Given the description of an element on the screen output the (x, y) to click on. 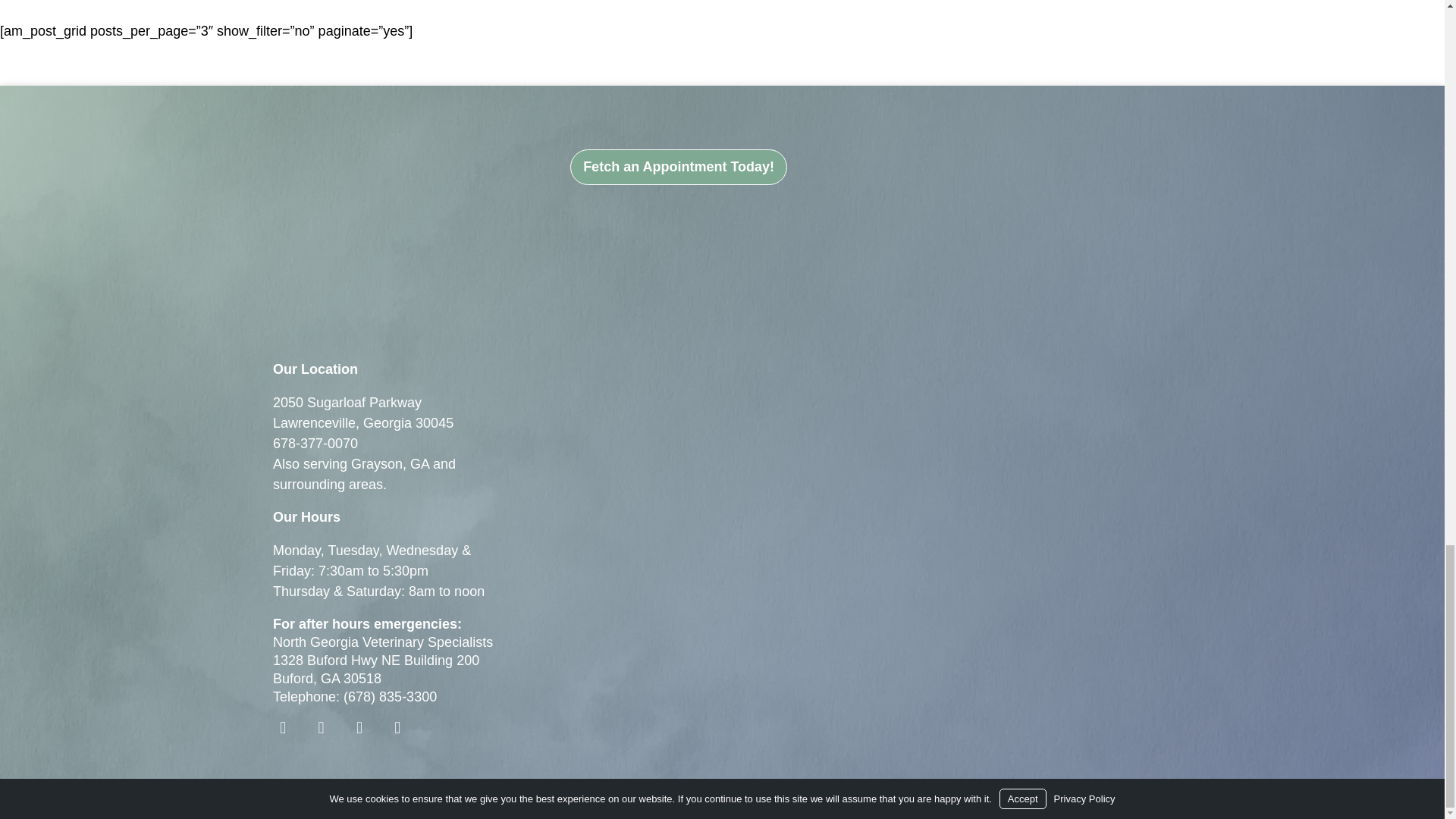
Instagram (359, 727)
Twitter (397, 727)
Youtube (320, 727)
